Given the description of an element on the screen output the (x, y) to click on. 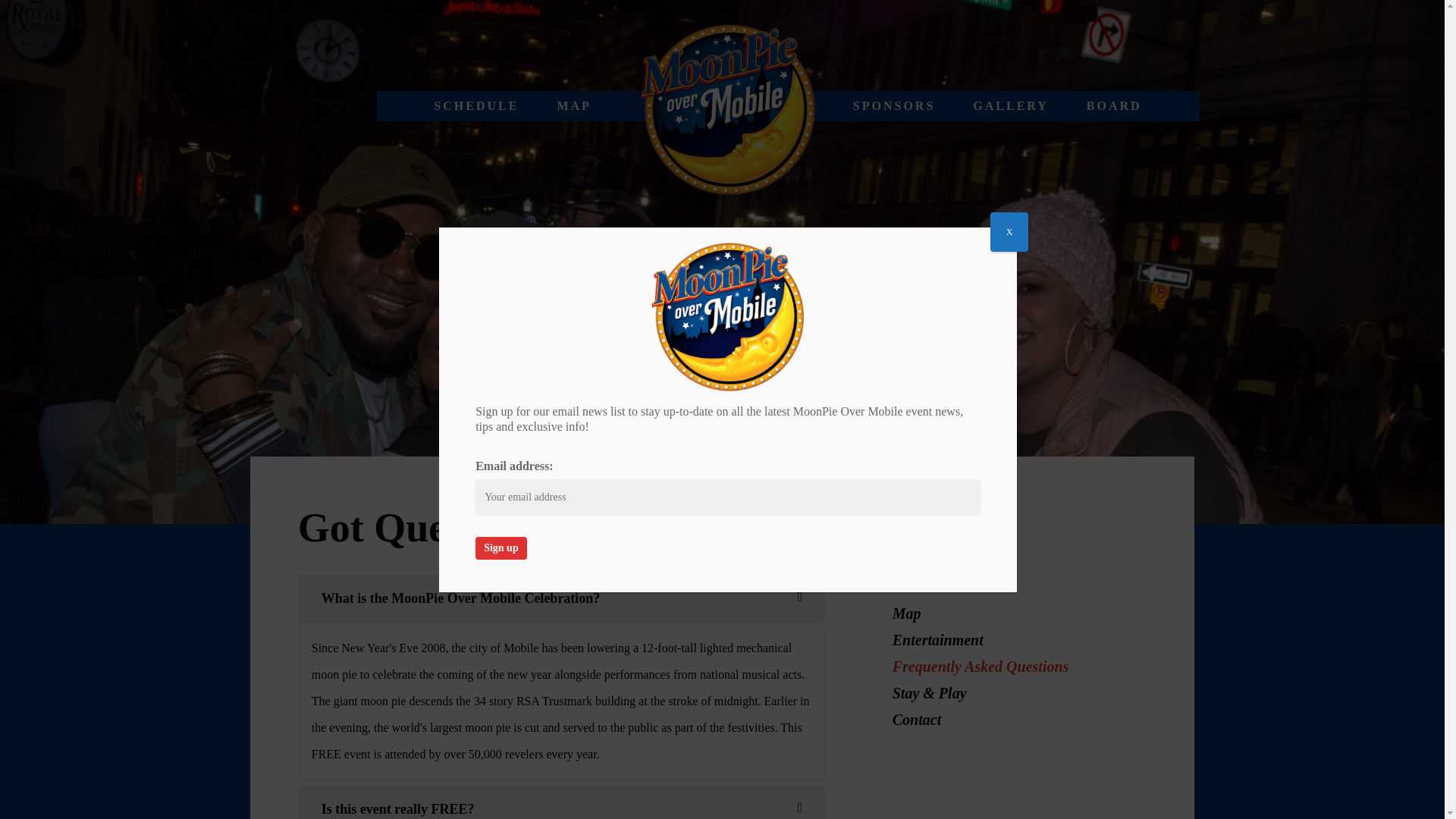
MAP (573, 105)
SCHEDULE (475, 105)
Is this event really FREE? (561, 806)
Sign up (501, 548)
BOARD (1113, 105)
What is the MoonPie Over Mobile Celebration? (561, 598)
SPONSORS (893, 105)
Frequently Asked Questions (980, 666)
Map (906, 613)
Schedule (921, 586)
Contact (916, 719)
GALLERY (1010, 105)
Entertainment (938, 639)
